Given the description of an element on the screen output the (x, y) to click on. 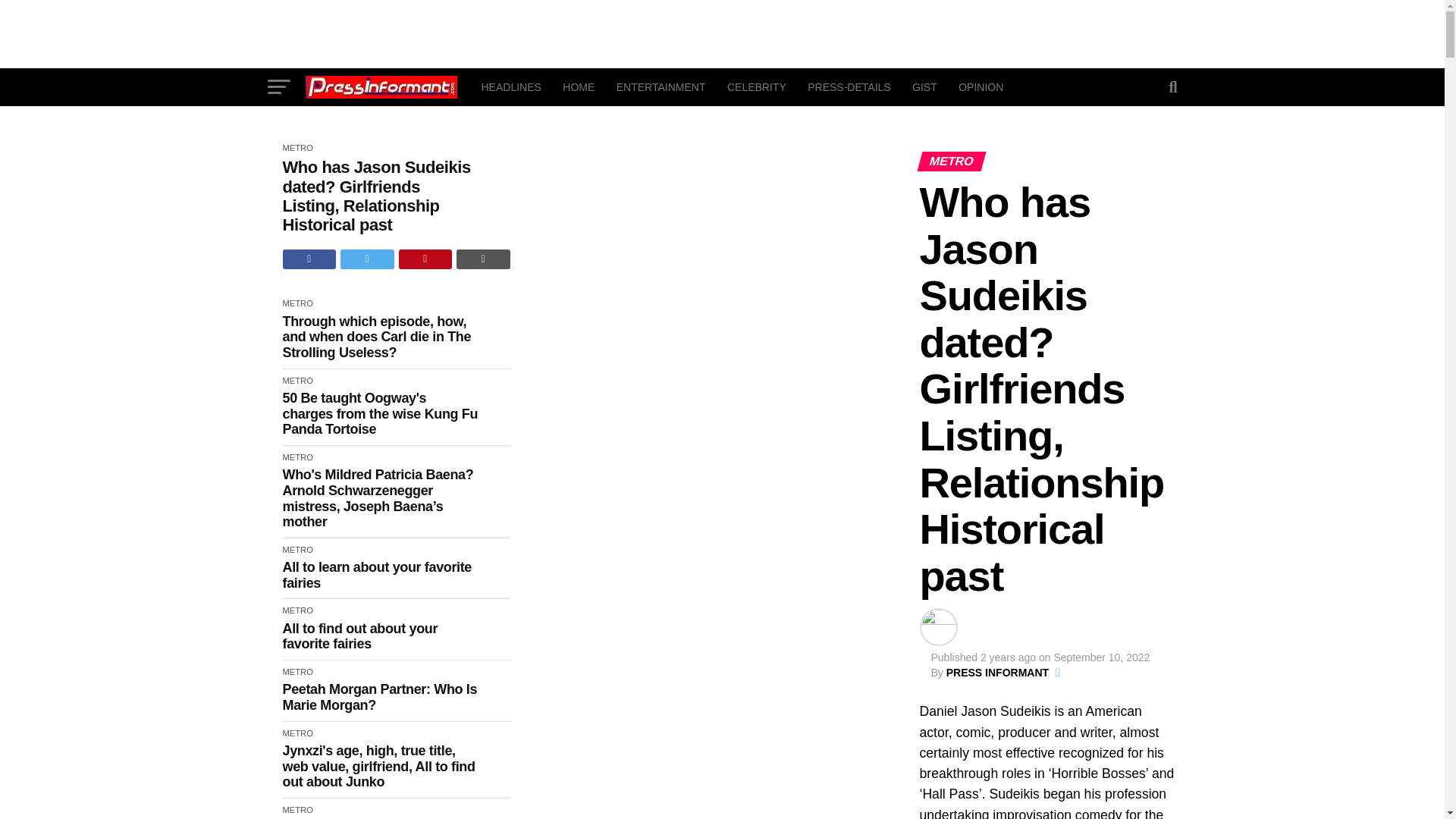
PRESS-DETAILS (848, 86)
Pin This Post (425, 259)
Share on Facebook (309, 259)
Advertisement (721, 33)
HOME (578, 86)
HEADLINES (510, 86)
ENTERTAINMENT (660, 86)
Tweet This Post (367, 259)
CELEBRITY (755, 86)
